Given the description of an element on the screen output the (x, y) to click on. 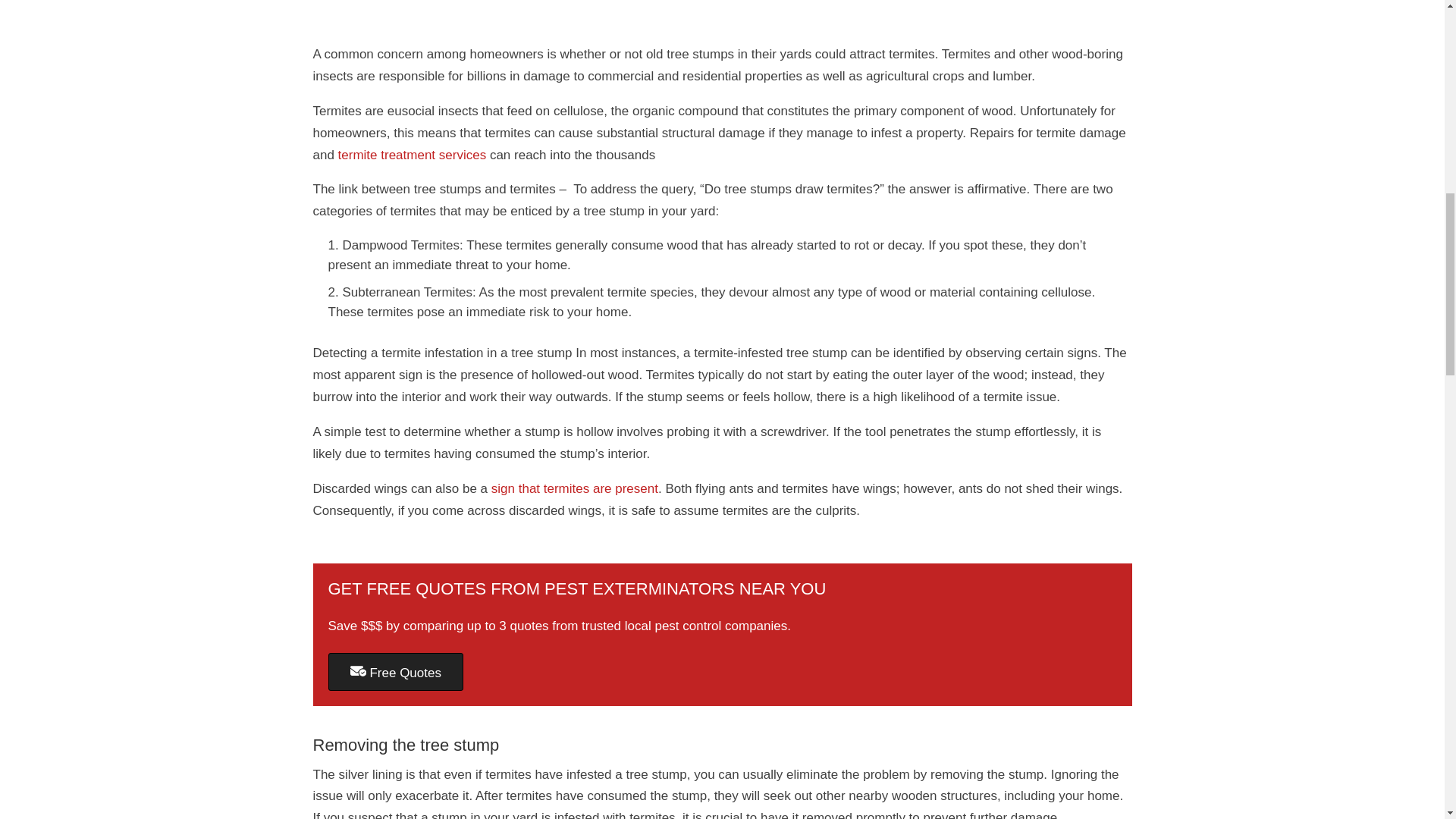
termite treatment services (411, 155)
Free Quotes (395, 671)
sign that termites are present (575, 488)
